Given the description of an element on the screen output the (x, y) to click on. 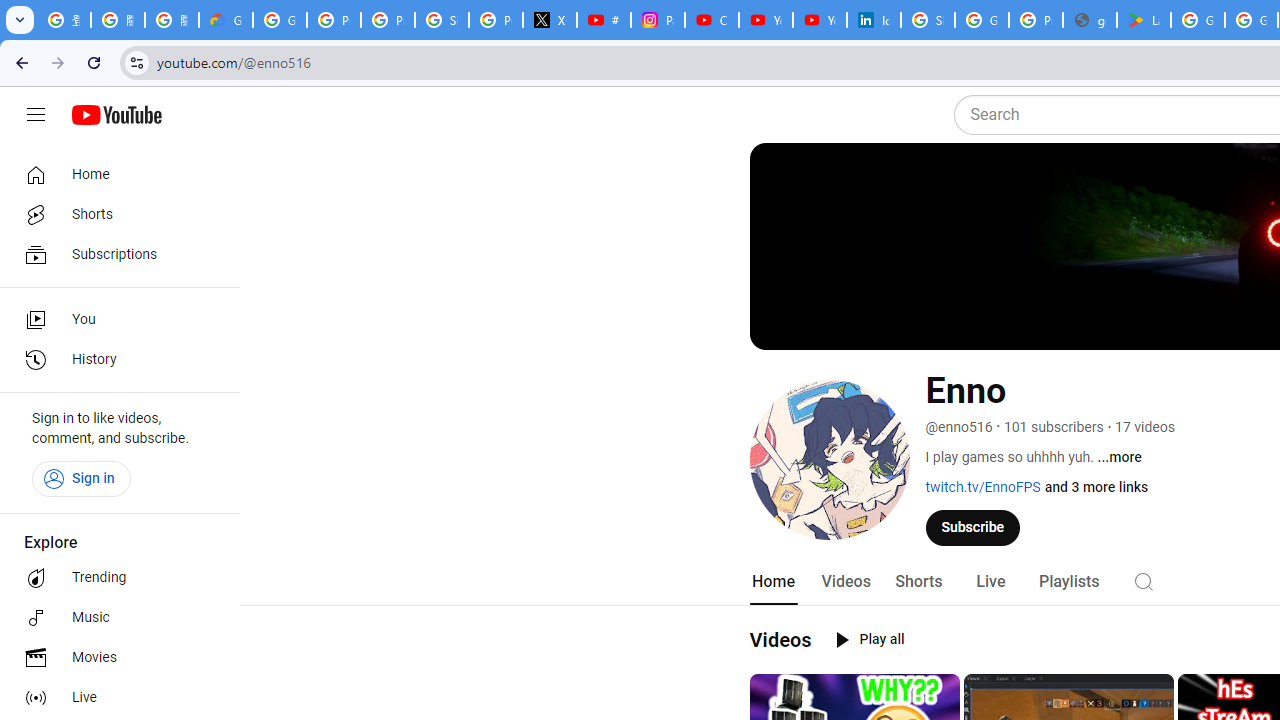
Last Shelter: Survival - Apps on Google Play (1144, 20)
Google Cloud Privacy Notice (225, 20)
Trending (113, 578)
twitch.tv/EnnoFPS (982, 487)
and 3 more links (1096, 487)
YouTube Home (116, 115)
Sign in - Google Accounts (927, 20)
